Given the description of an element on the screen output the (x, y) to click on. 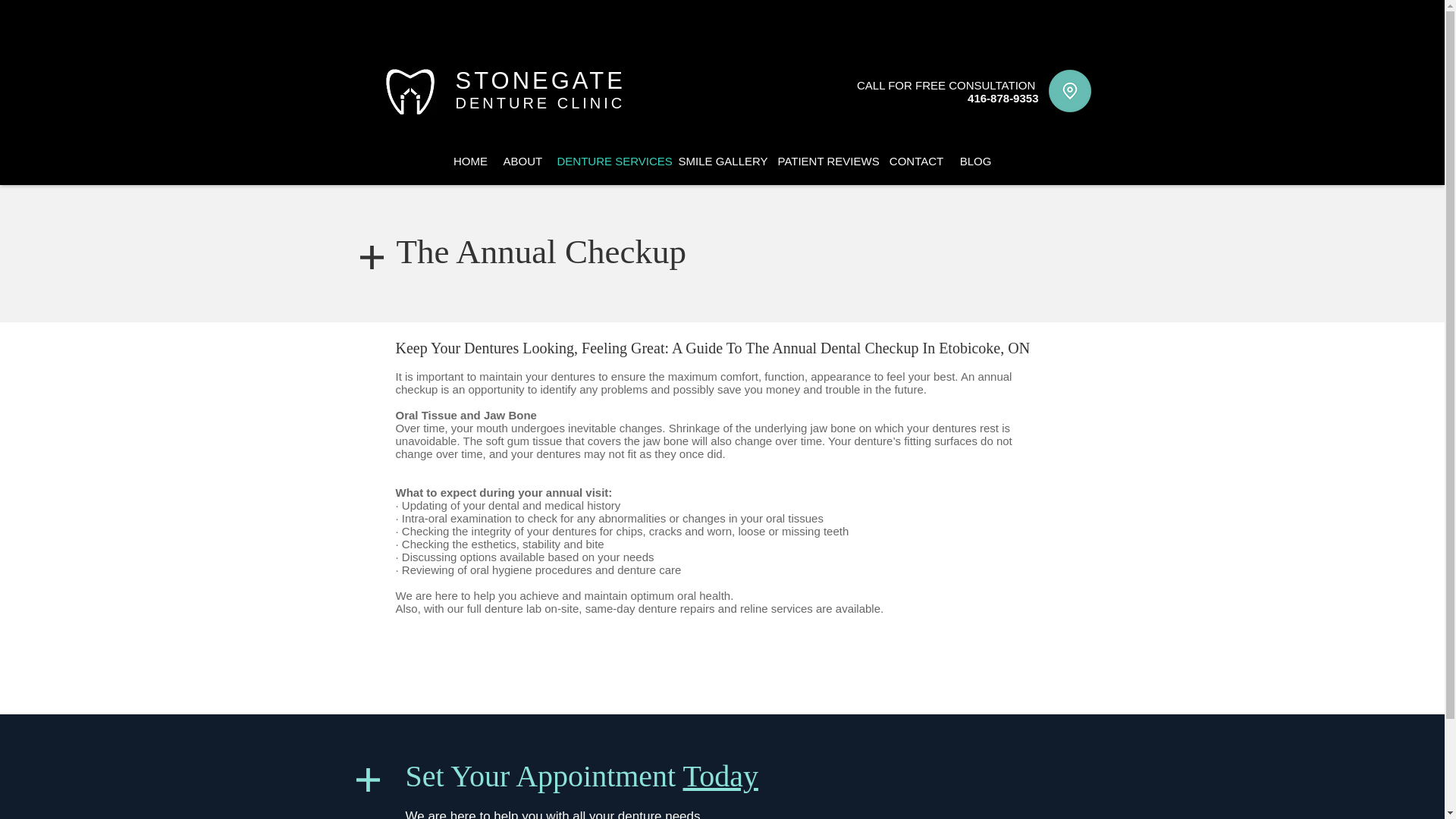
BLOG (975, 161)
DENTURE SERVICES (608, 161)
SMILE GALLERY (719, 161)
CONTACT (916, 161)
HOME (470, 161)
ABOUT (523, 161)
PATIENT REVIEWS (825, 161)
Set Your Appointment Today (580, 776)
